Given the description of an element on the screen output the (x, y) to click on. 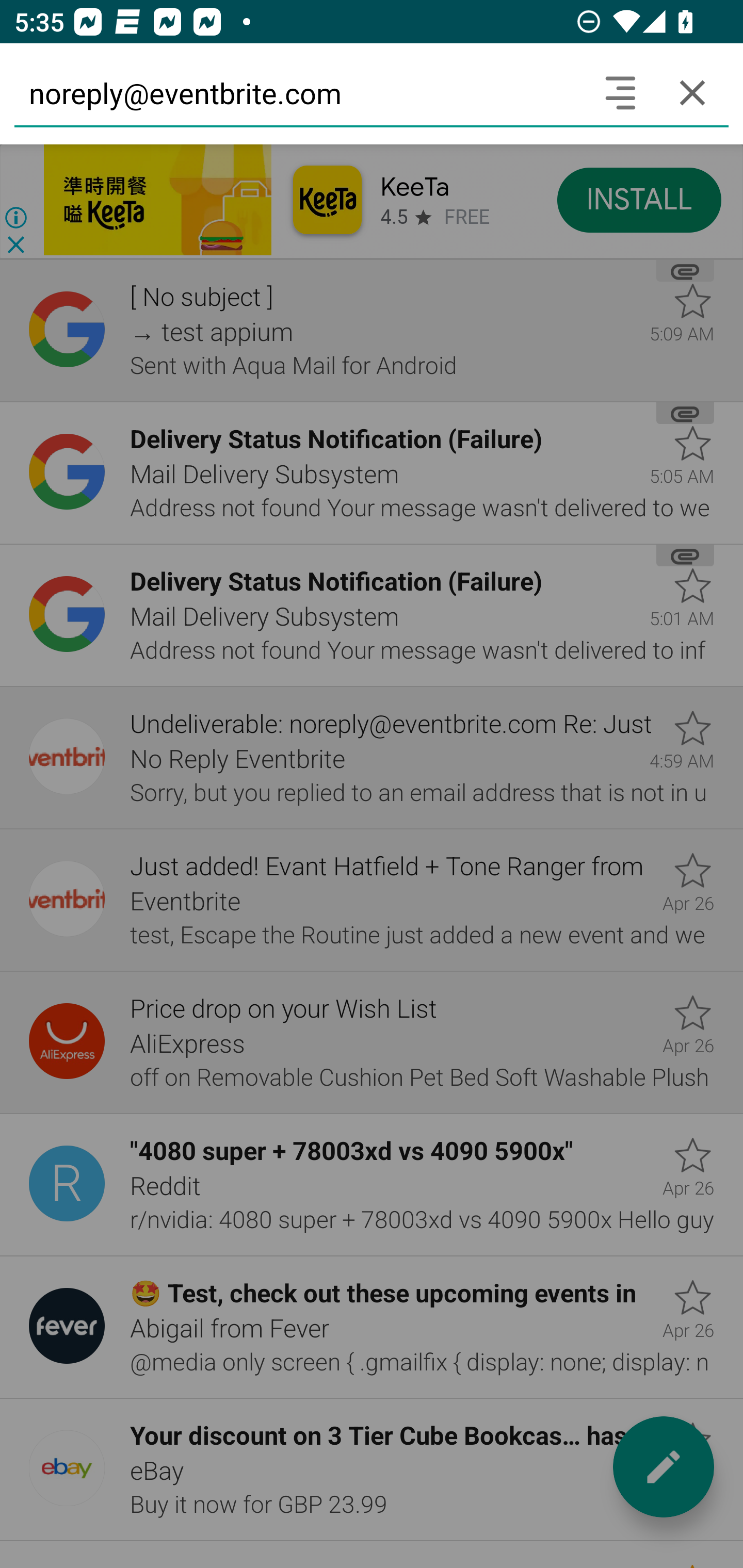
noreply@eventbrite.com (298, 92)
Search headers and text (619, 92)
Cancel (692, 92)
